Given the description of an element on the screen output the (x, y) to click on. 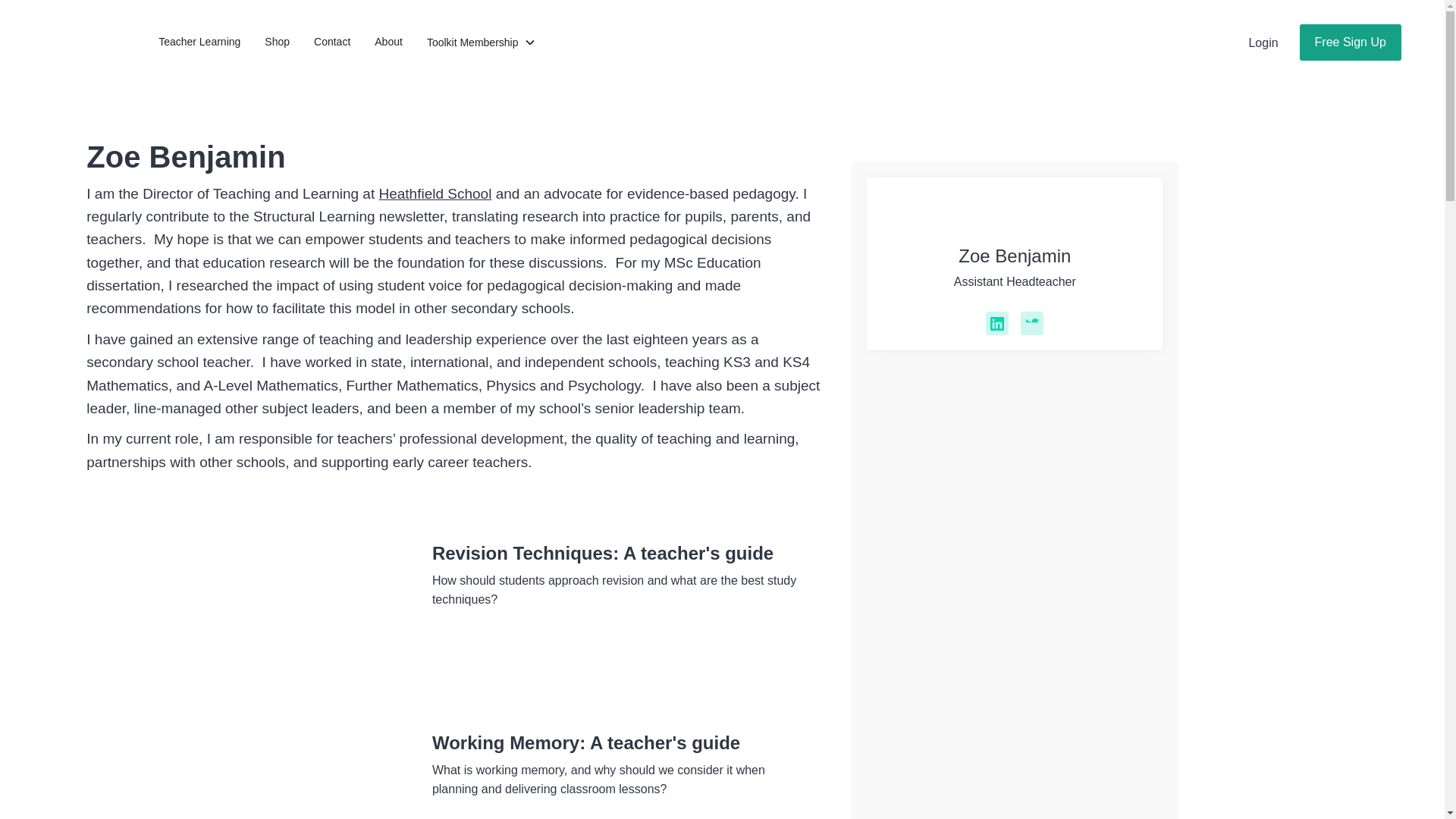
Teacher Learning (199, 41)
About (388, 41)
Shop (276, 41)
Login (1262, 42)
Free Sign Up (1350, 42)
Heathfield School (435, 192)
Contact (331, 41)
